Given the description of an element on the screen output the (x, y) to click on. 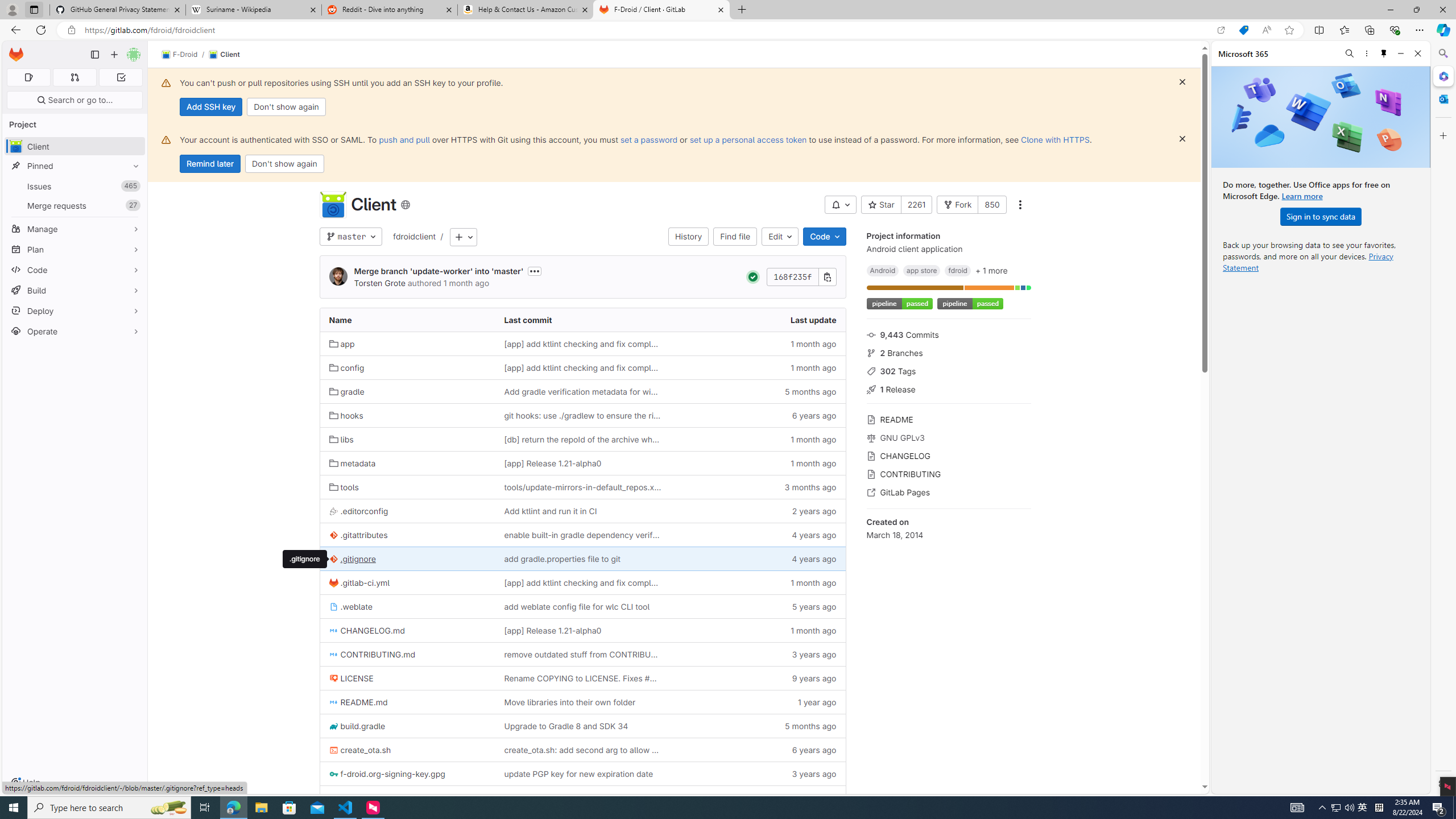
9 years ago (757, 677)
Build (74, 289)
GNU GPLv3 (948, 437)
Edit (780, 236)
create_ota.sh (407, 749)
build.gradle (407, 725)
Rename COPYING to LICENSE. Fixes #384 (582, 678)
remove outdated stuff from CONTRIBUTING.md (582, 654)
metadata (352, 463)
CHANGELOG (948, 455)
Create new... (113, 54)
Deploy (74, 310)
Help (25, 782)
Upgrade to Gradle 8 and SDK 34 (583, 725)
